Given the description of an element on the screen output the (x, y) to click on. 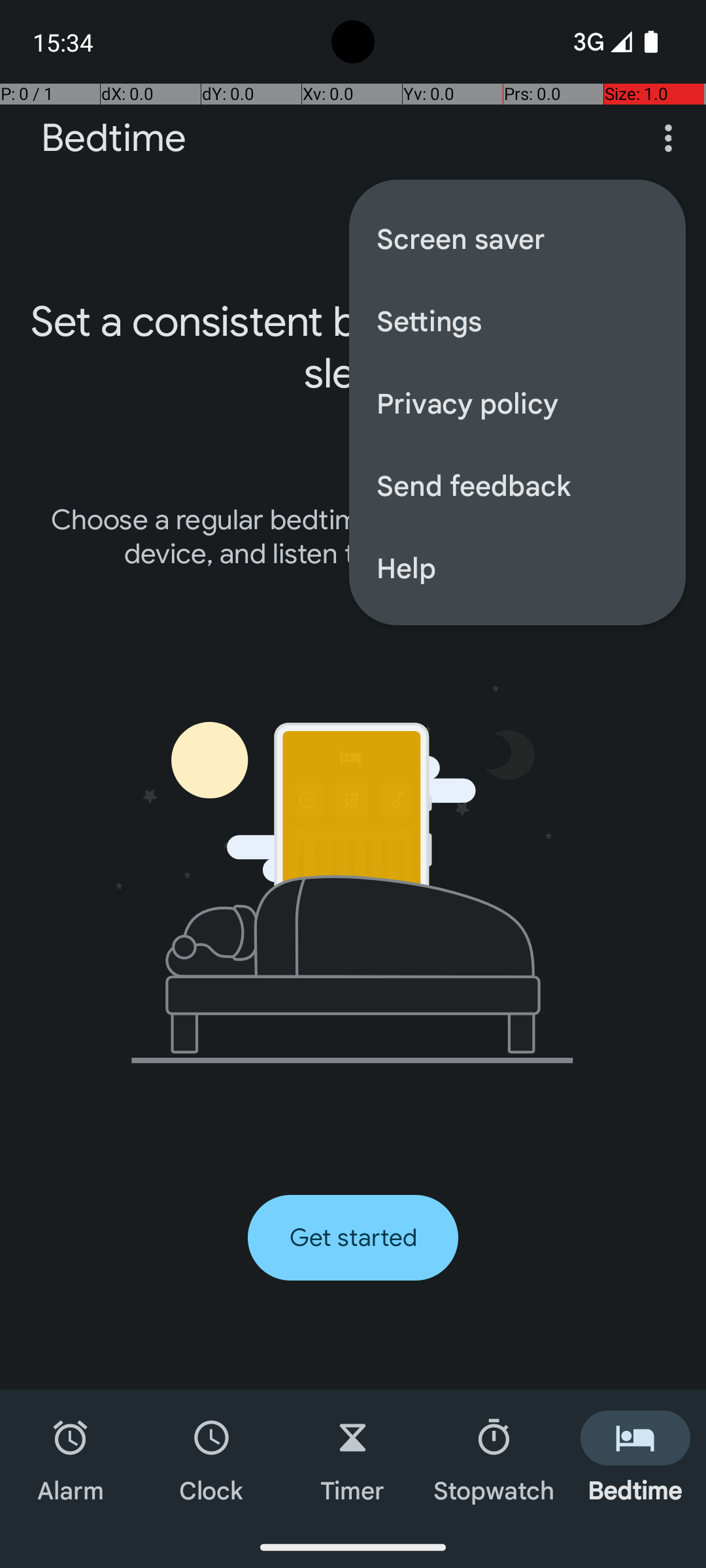
Screen saver Element type: android.widget.TextView (517, 237)
